Given the description of an element on the screen output the (x, y) to click on. 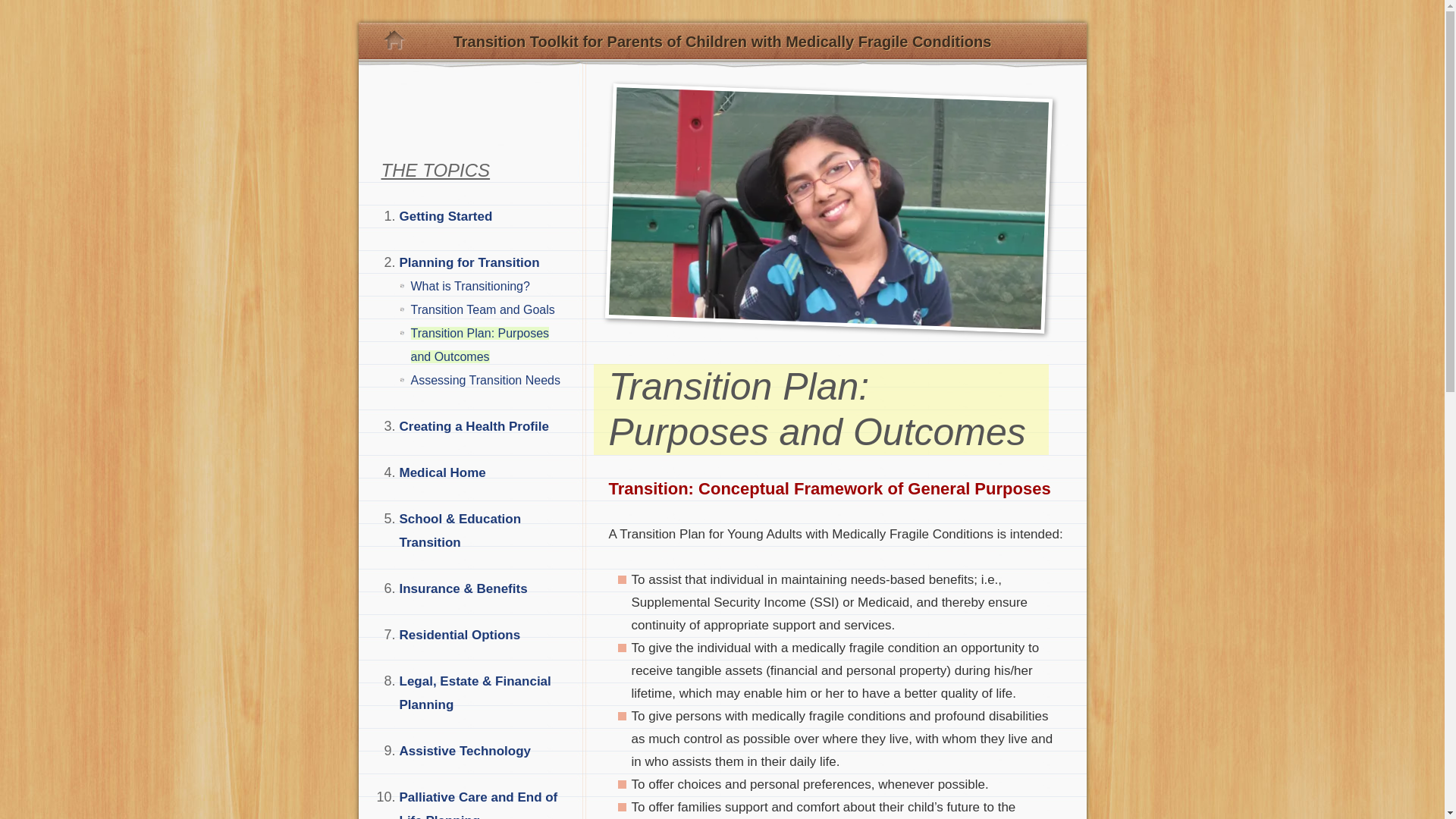
Transition Team and Goals (482, 309)
What is Transitioning? (469, 286)
Medical Home (441, 472)
Planning for Transition (468, 262)
Transition Plan: Purposes and Outcomes (480, 344)
Assessing Transition Needs (485, 379)
eToolkit (403, 41)
Creating a Health Profile (473, 426)
Residential Options (458, 635)
Getting Started (445, 216)
